Given the description of an element on the screen output the (x, y) to click on. 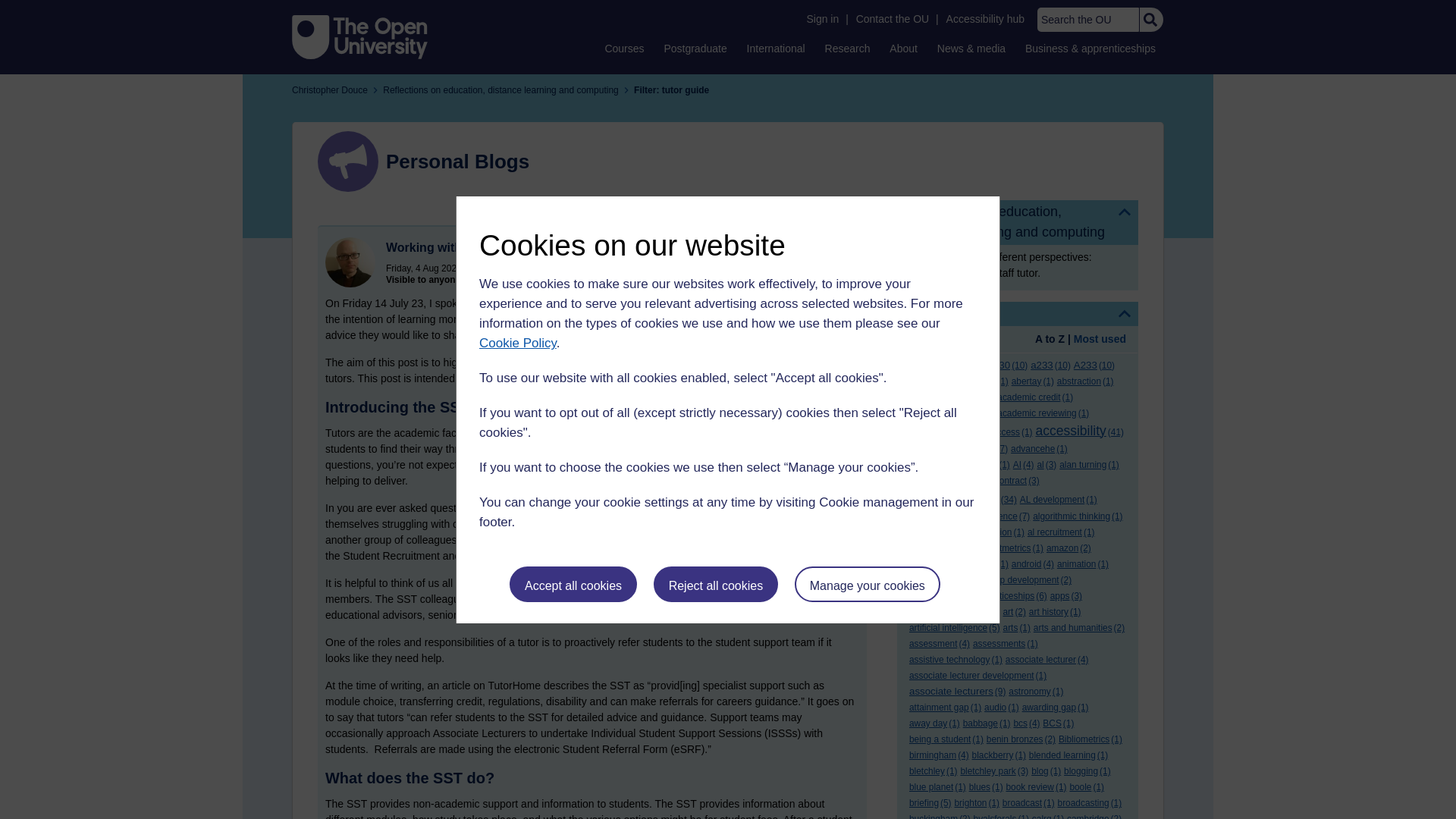
Reject all cookies (715, 583)
Courses (623, 48)
Accept all cookies (573, 583)
Contact the OU (892, 19)
Search (1149, 19)
Tags (1017, 313)
About (903, 48)
Manage your cookies (867, 583)
Accessibility hub (985, 19)
Postgraduate (695, 48)
